Given the description of an element on the screen output the (x, y) to click on. 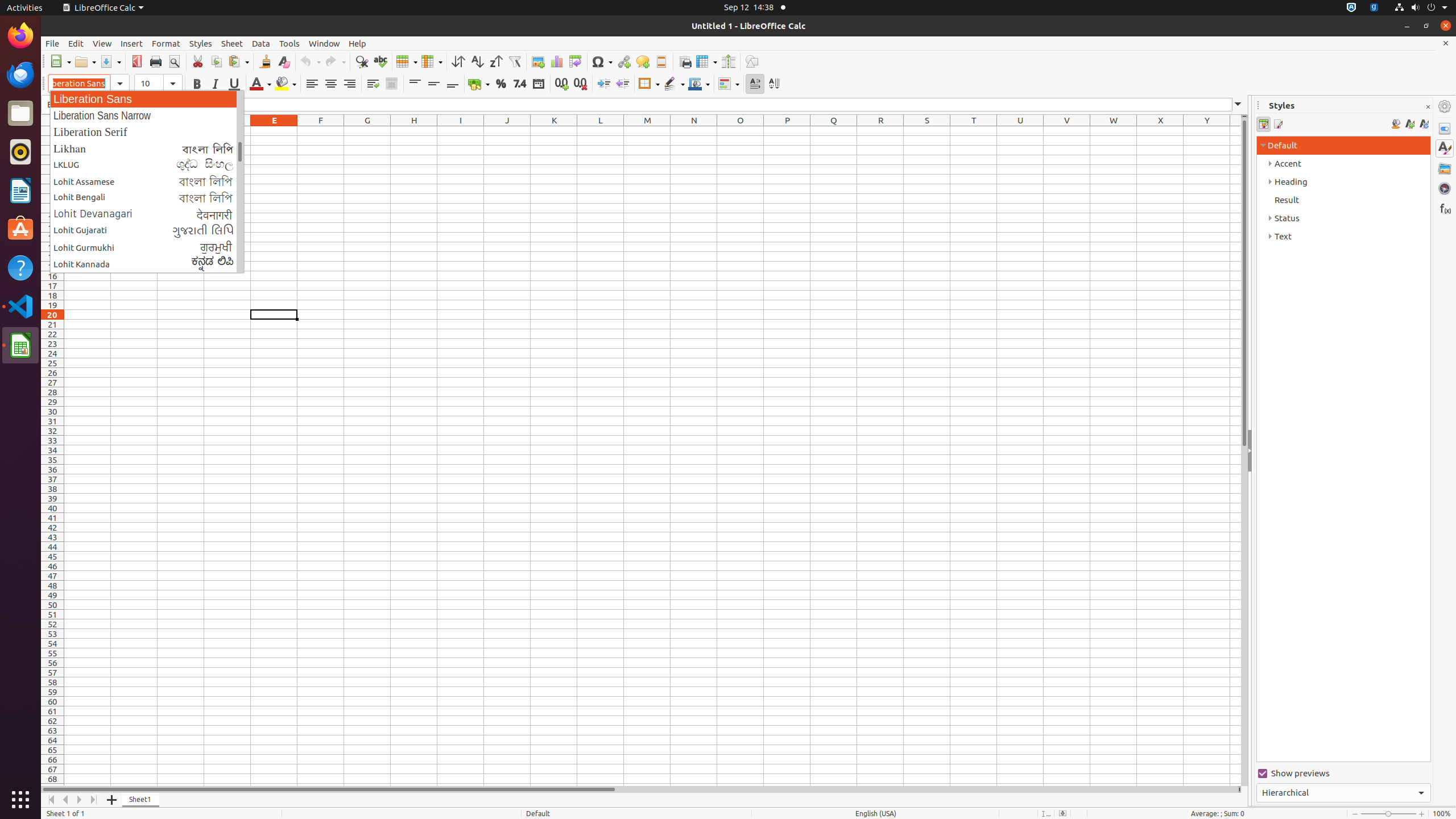
:1.21/StatusNotifierItem Element type: menu (1373, 7)
Lohit Kannada Element type: list-item (146, 263)
P1 Element type: table-cell (786, 130)
Image Element type: push-button (537, 61)
Clone Element type: push-button (264, 61)
